Given the description of an element on the screen output the (x, y) to click on. 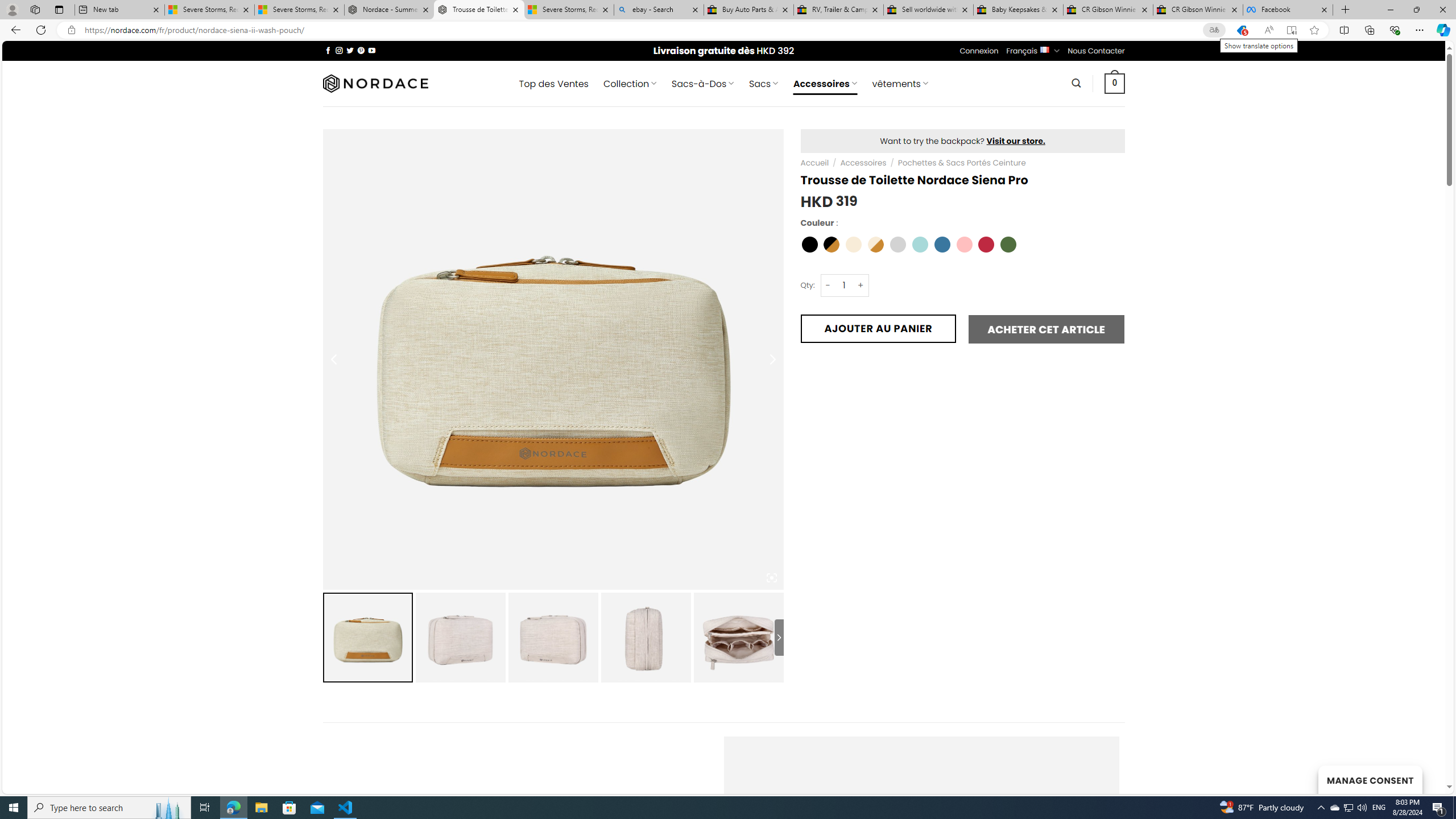
Nous suivre sur Facebook (327, 49)
Nous suivre sur Instagram (338, 49)
Nous suivre sur Pinterest (360, 49)
Class: iconic-woothumbs-fullscreen (771, 577)
Nous suivre sur Youtube (371, 49)
MANAGE CONSENT (1369, 779)
+ (861, 284)
